Given the description of an element on the screen output the (x, y) to click on. 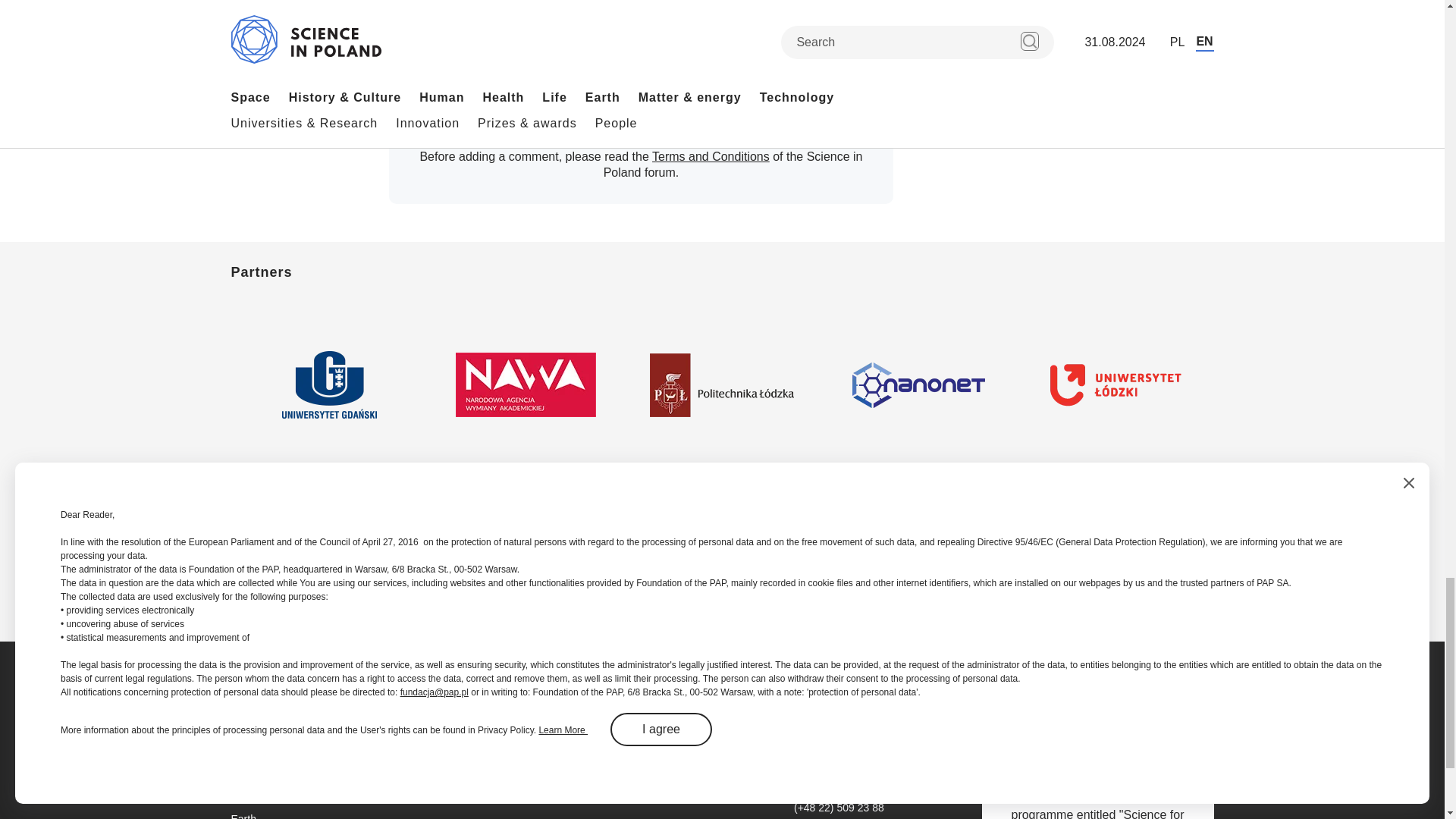
TECHNOLOGY (692, 5)
Terms and Conditions (711, 155)
Polish company to build telescopes for European satellite (509, 44)
